Given the description of an element on the screen output the (x, y) to click on. 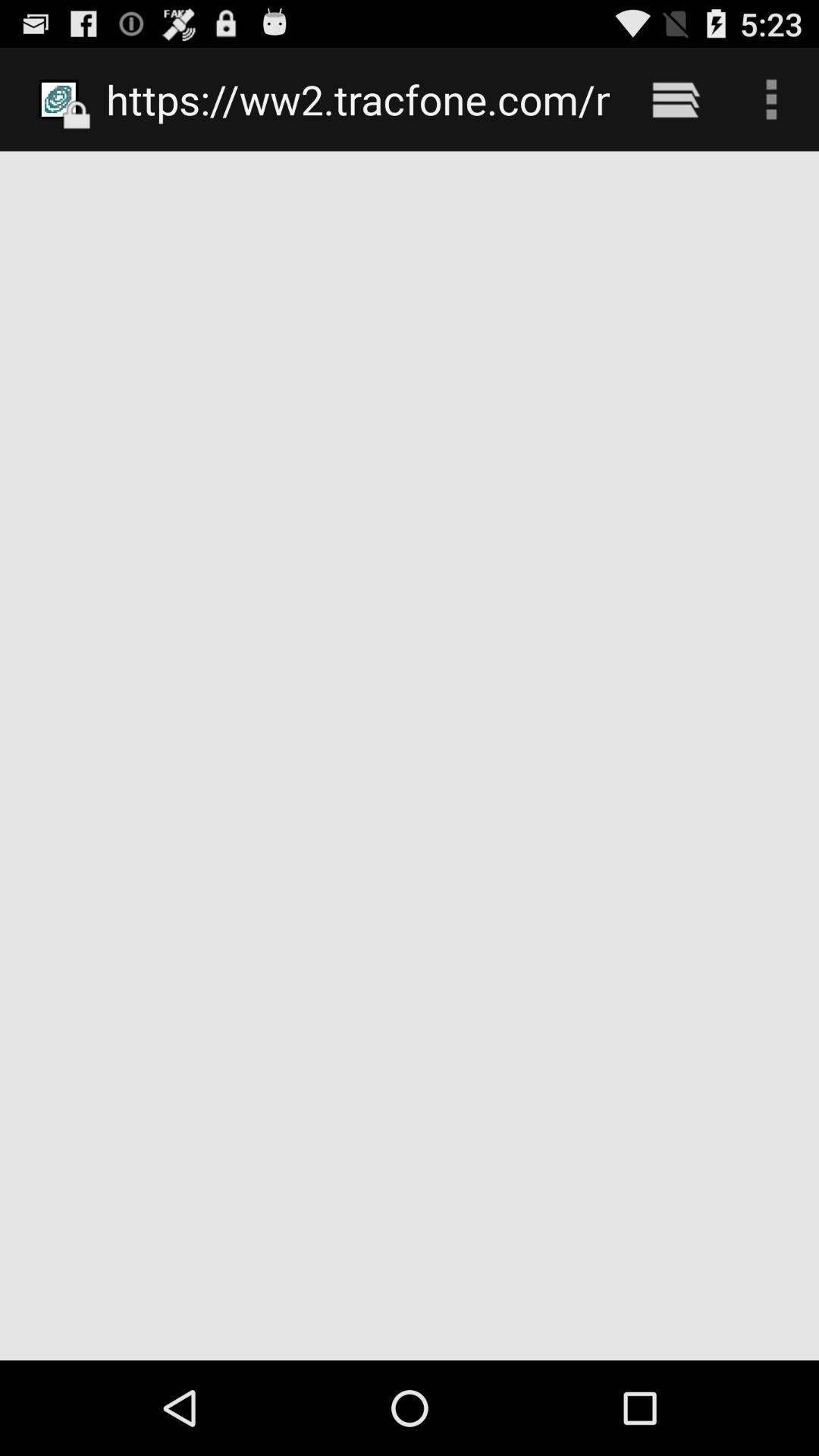
tap item below https ww2 tracfone icon (409, 755)
